Given the description of an element on the screen output the (x, y) to click on. 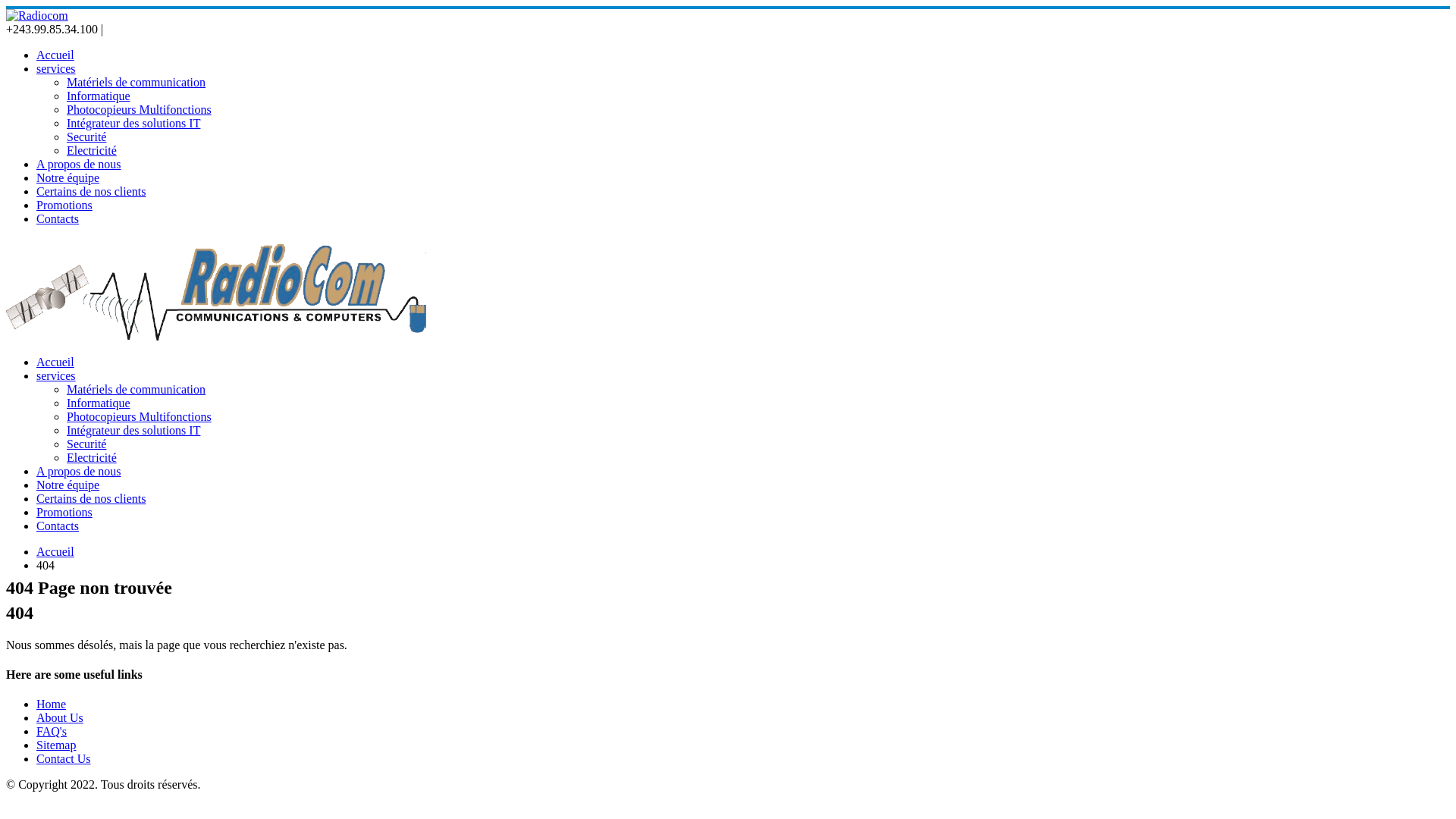
Informatique Element type: text (98, 95)
Sitemap Element type: text (55, 744)
Certains de nos clients Element type: text (90, 191)
Photocopieurs Multifonctions Element type: text (138, 416)
A propos de nous Element type: text (78, 163)
Promotions Element type: text (64, 511)
Radiocom - Communications & Computers Element type: hover (37, 15)
Accueil Element type: text (55, 54)
Home Element type: text (50, 703)
Informatique Element type: text (98, 402)
Contact Us Element type: text (63, 758)
Contacts Element type: text (57, 218)
services Element type: text (55, 68)
Accueil Element type: text (55, 551)
Certains de nos clients Element type: text (90, 498)
Promotions Element type: text (64, 204)
About Us Element type: text (59, 717)
Accueil Element type: text (55, 361)
Radiocom - Communications & Computers Element type: hover (218, 335)
Contacts Element type: text (57, 525)
services Element type: text (55, 375)
FAQ's Element type: text (51, 730)
A propos de nous Element type: text (78, 470)
Photocopieurs Multifonctions Element type: text (138, 109)
